Given the description of an element on the screen output the (x, y) to click on. 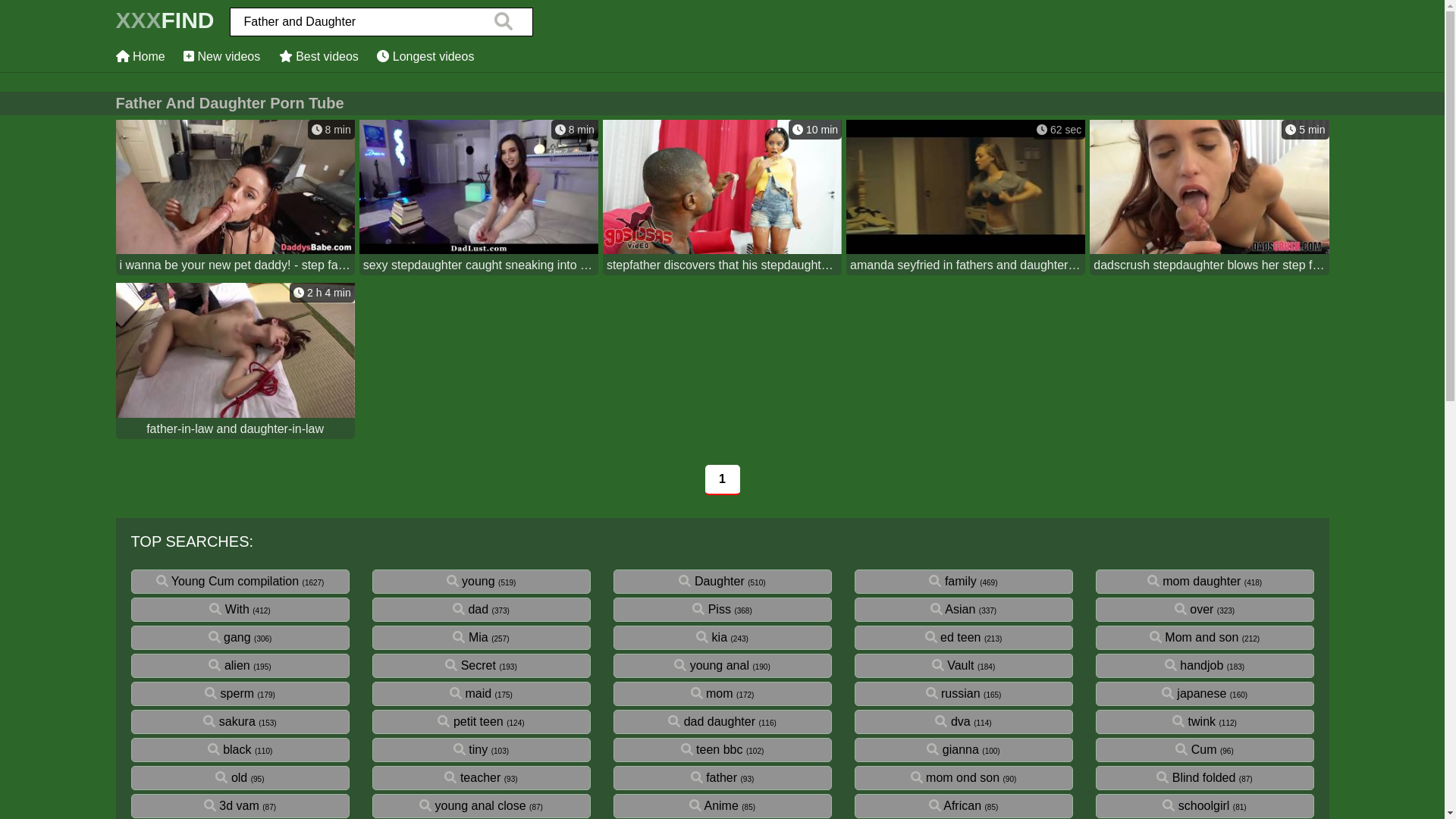
handjob Element type: text (1193, 664)
3d vam Element type: text (231, 805)
young Element type: text (470, 580)
2 h 4 min
father-in-law and daughter-in-law Element type: text (234, 361)
russian Element type: text (952, 693)
mom daughter Element type: text (1194, 580)
kia Element type: text (711, 636)
black Element type: text (229, 749)
young anal close Element type: text (472, 805)
dad Element type: text (470, 608)
Longest videos Element type: text (424, 56)
dad daughter Element type: text (711, 721)
Mia Element type: text (469, 636)
Asian Element type: text (952, 608)
62 sec
amanda seyfried in fathers and daughters 2015 Element type: text (965, 198)
Piss Element type: text (711, 608)
teen bbc Element type: text (711, 749)
alien Element type: text (228, 664)
Vault Element type: text (952, 664)
over Element type: text (1194, 608)
Cum Element type: text (1195, 749)
japanese Element type: text (1193, 693)
Home Element type: text (139, 56)
mom Element type: text (711, 693)
gianna Element type: text (952, 749)
1 Element type: text (722, 479)
Secret Element type: text (470, 664)
twink Element type: text (1193, 721)
maid Element type: text (470, 693)
ed teen Element type: text (953, 636)
With Element type: text (228, 608)
Daughter Element type: text (710, 580)
XXXFIND Element type: text (164, 24)
father Element type: text (713, 777)
Anime Element type: text (713, 805)
Best videos Element type: text (318, 56)
gang Element type: text (229, 636)
African Element type: text (954, 805)
Blind folded Element type: text (1195, 777)
young anal Element type: text (711, 664)
Mom and son Element type: text (1193, 636)
sperm Element type: text (229, 693)
petit teen Element type: text (469, 721)
Young Cum compilation Element type: text (227, 580)
dva Element type: text (952, 721)
teacher Element type: text (472, 777)
family Element type: text (951, 580)
mom ond son Element type: text (954, 777)
New videos Element type: text (221, 56)
schoolgirl Element type: text (1195, 805)
sakura Element type: text (228, 721)
tiny Element type: text (470, 749)
old Element type: text (231, 777)
